Given the description of an element on the screen output the (x, y) to click on. 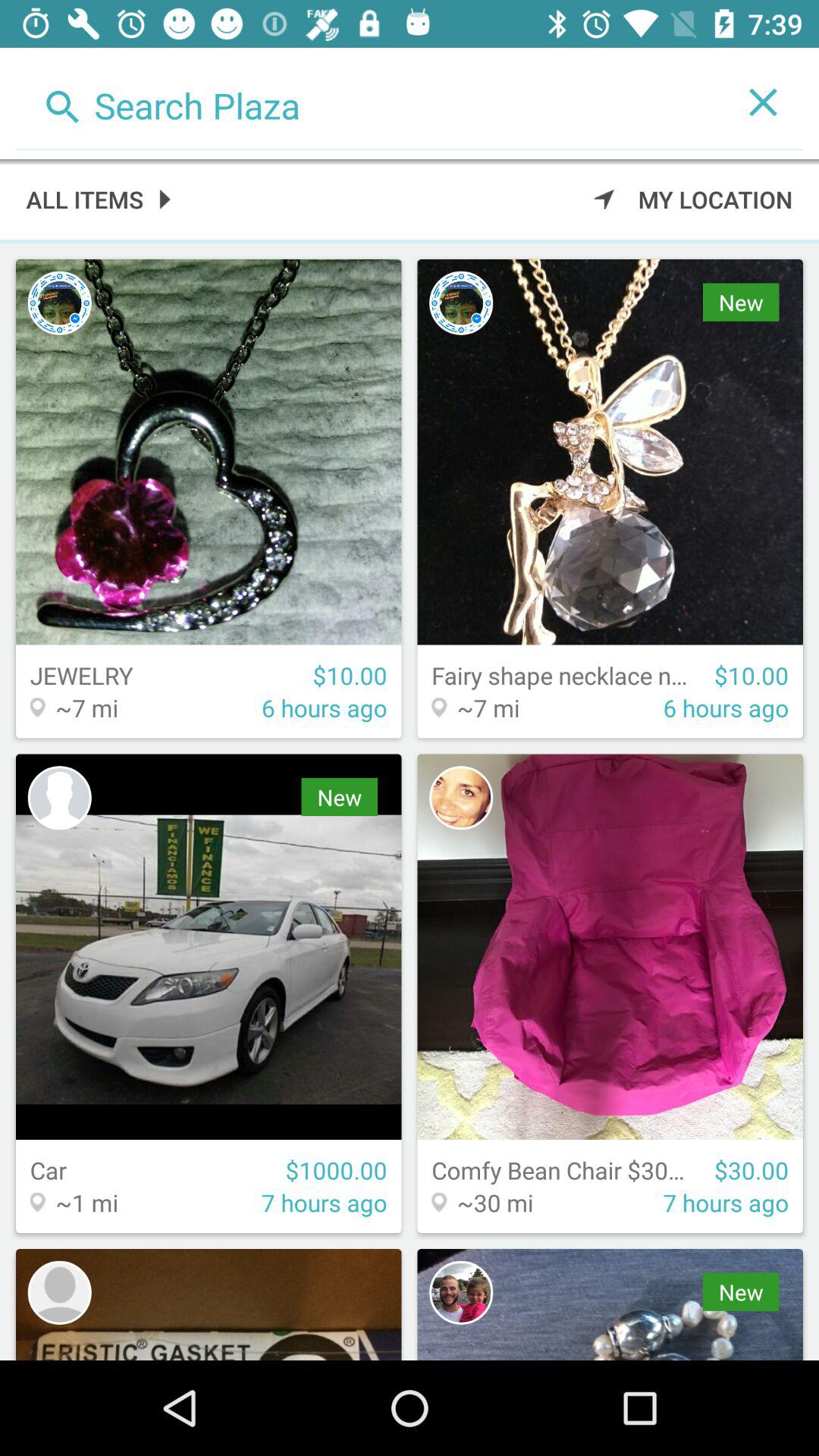
see seller profile (59, 302)
